Given the description of an element on the screen output the (x, y) to click on. 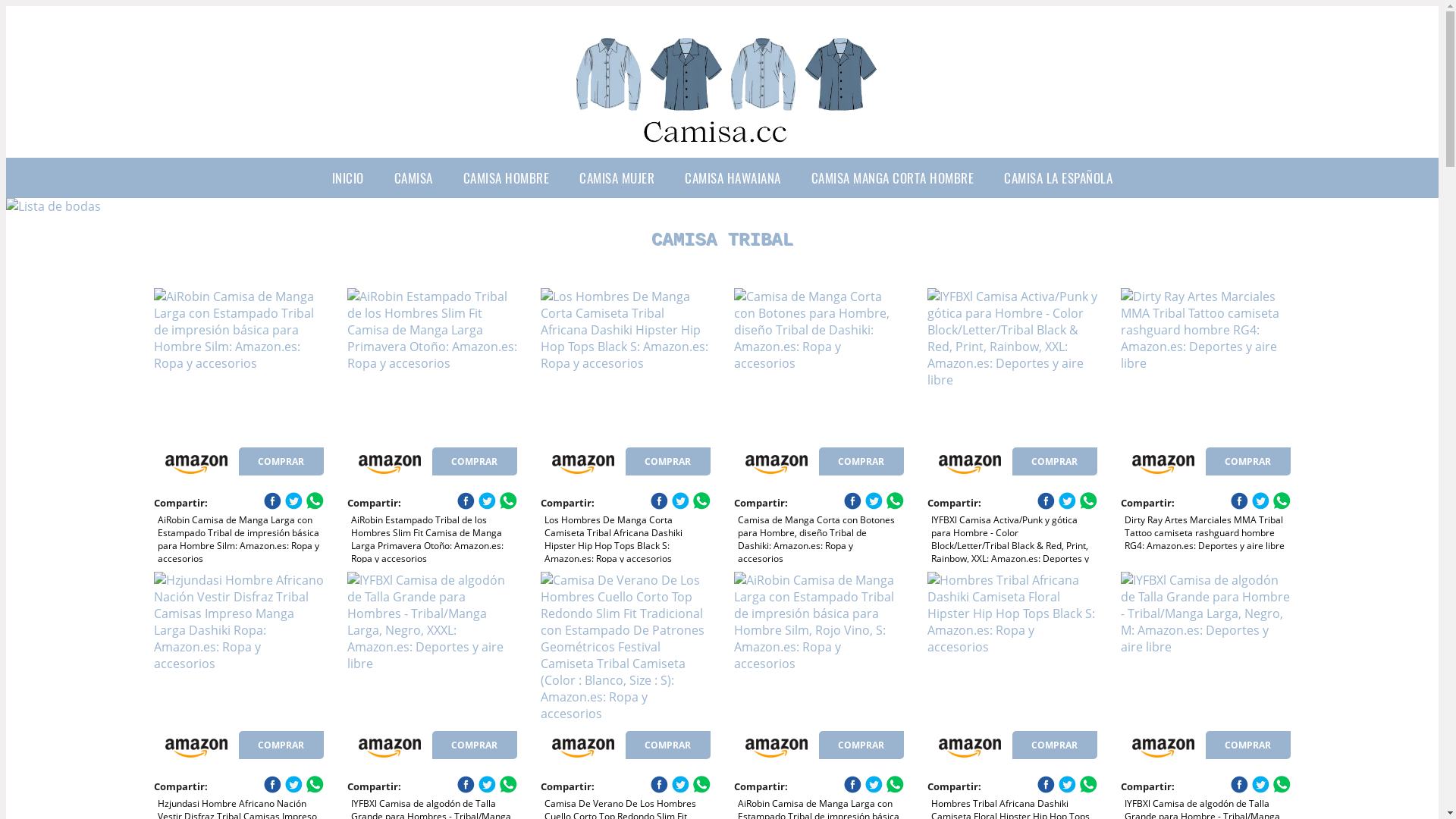
COMPRAR Element type: text (280, 745)
CAMISA HAWAIANA Element type: text (732, 177)
COMPRAR Element type: text (667, 461)
COMPRAR Element type: text (474, 461)
INICIO Element type: text (347, 177)
COMPRAR Element type: text (280, 461)
Inicio Element type: hover (721, 145)
COMPRAR Element type: text (1054, 745)
COMPRAR Element type: text (861, 461)
Lista de bodas Element type: hover (53, 205)
CAMISA Element type: text (413, 177)
COMPRAR Element type: text (1247, 745)
COMPRAR Element type: text (861, 745)
CAMISA MUJER Element type: text (616, 177)
COMPRAR Element type: text (667, 745)
COMPRAR Element type: text (474, 745)
CAMISA MANGA CORTA HOMBRE Element type: text (892, 177)
CAMISA HOMBRE Element type: text (506, 177)
COMPRAR Element type: text (1054, 461)
COMPRAR Element type: text (1247, 461)
